Given the description of an element on the screen output the (x, y) to click on. 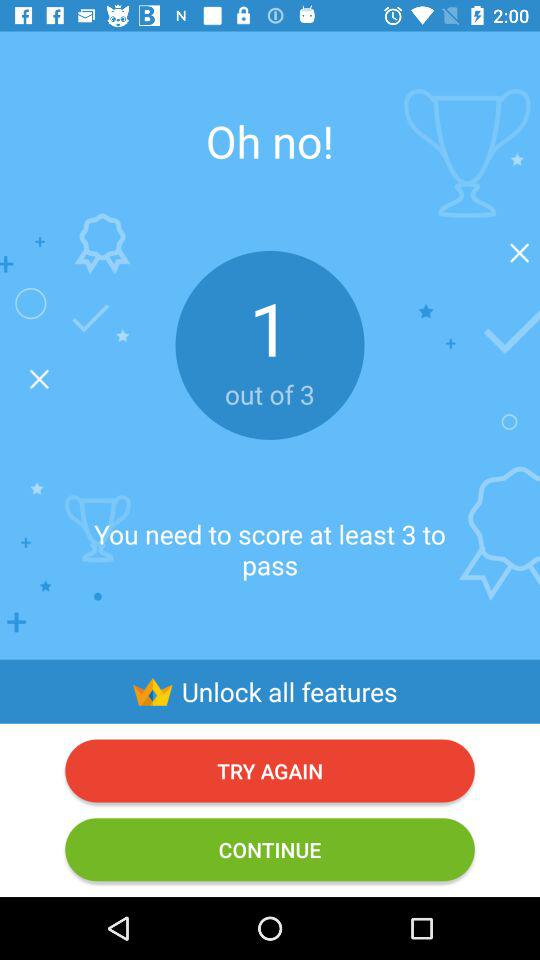
flip to continue (269, 849)
